Given the description of an element on the screen output the (x, y) to click on. 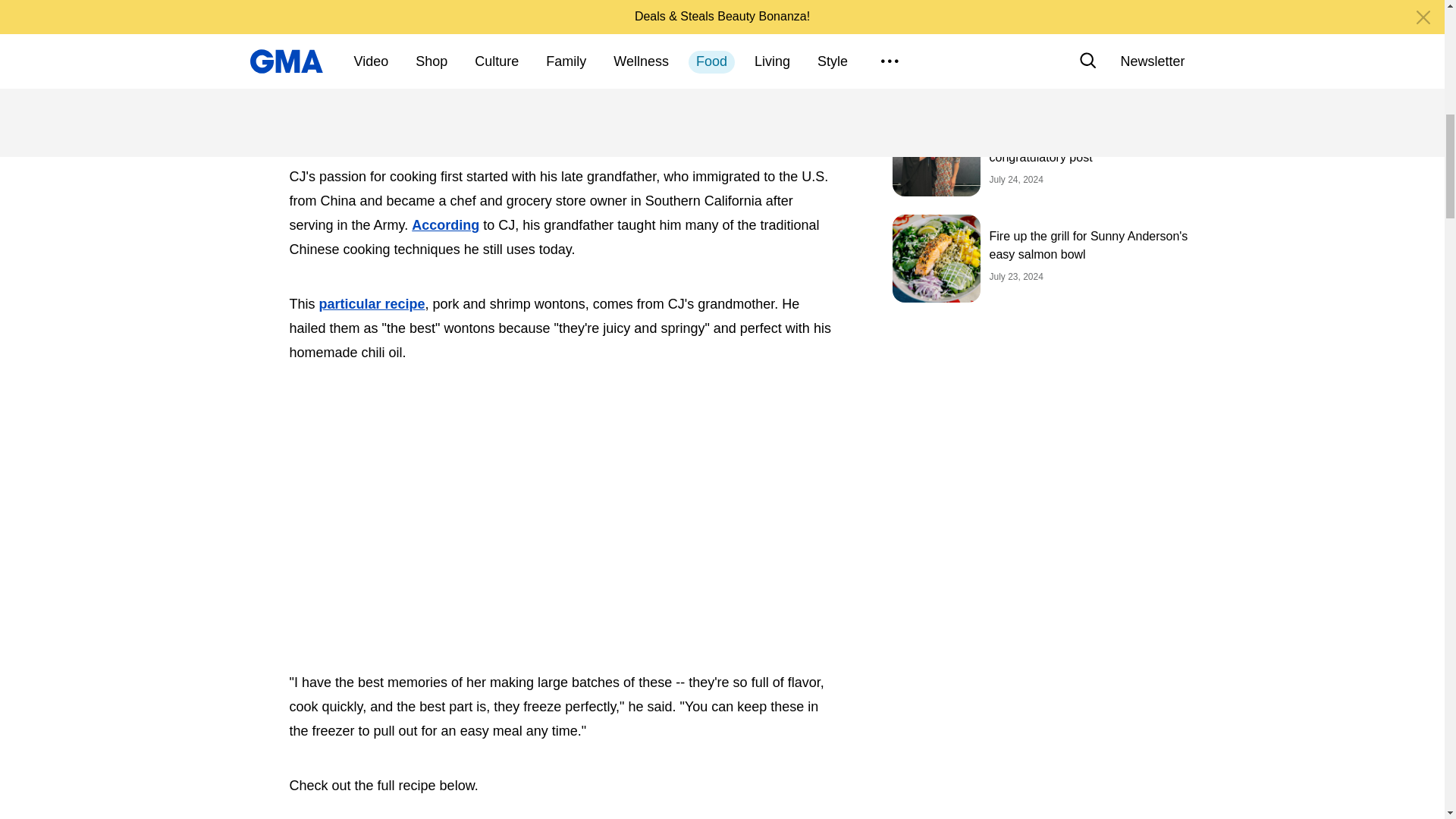
particular recipe (371, 304)
According (445, 224)
